Given the description of an element on the screen output the (x, y) to click on. 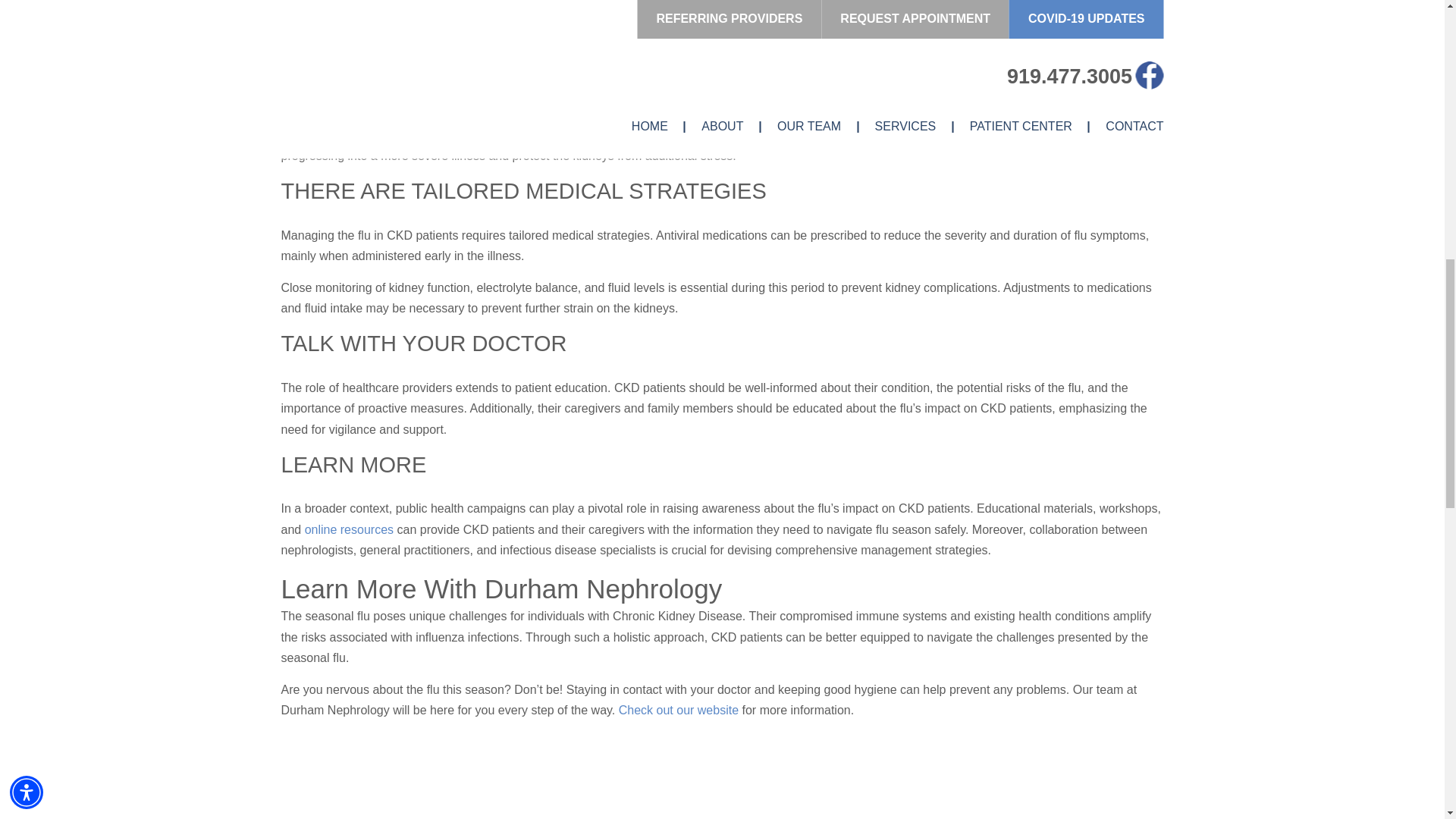
online resources (348, 529)
Check out our website (678, 709)
